Given the description of an element on the screen output the (x, y) to click on. 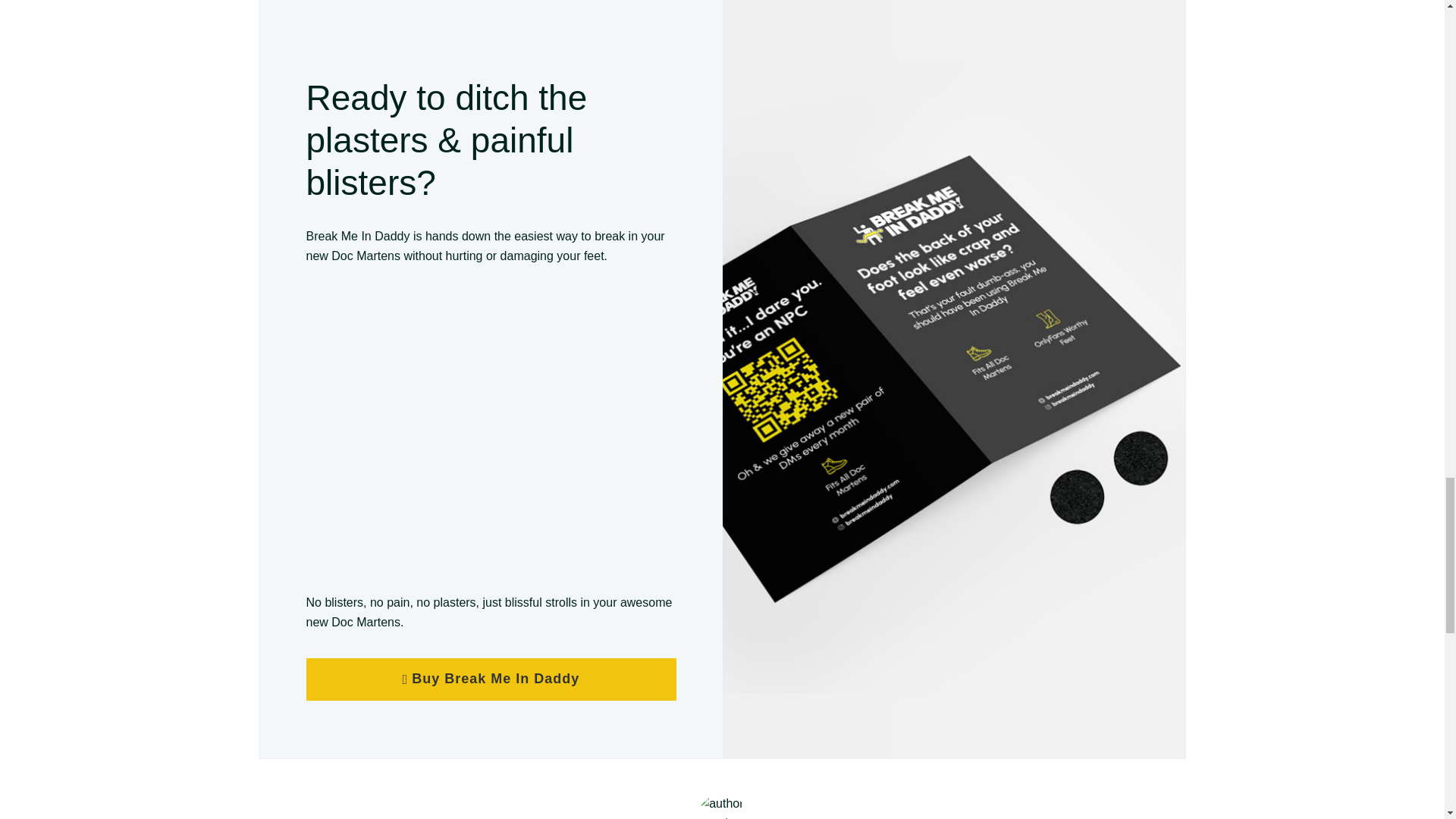
Buy Break Me In Daddy (491, 679)
